Given the description of an element on the screen output the (x, y) to click on. 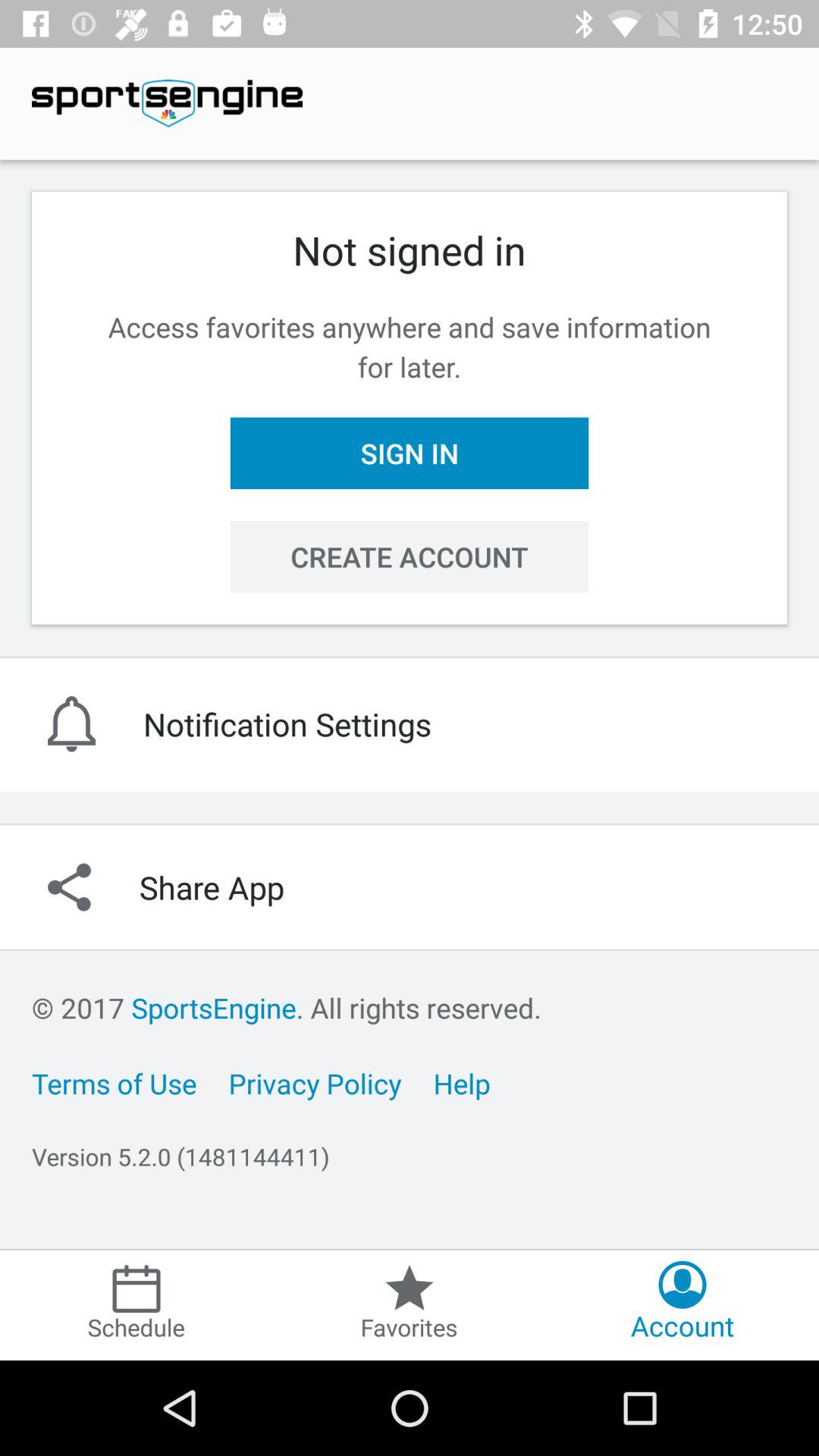
turn on item below share app item (286, 1007)
